Given the description of an element on the screen output the (x, y) to click on. 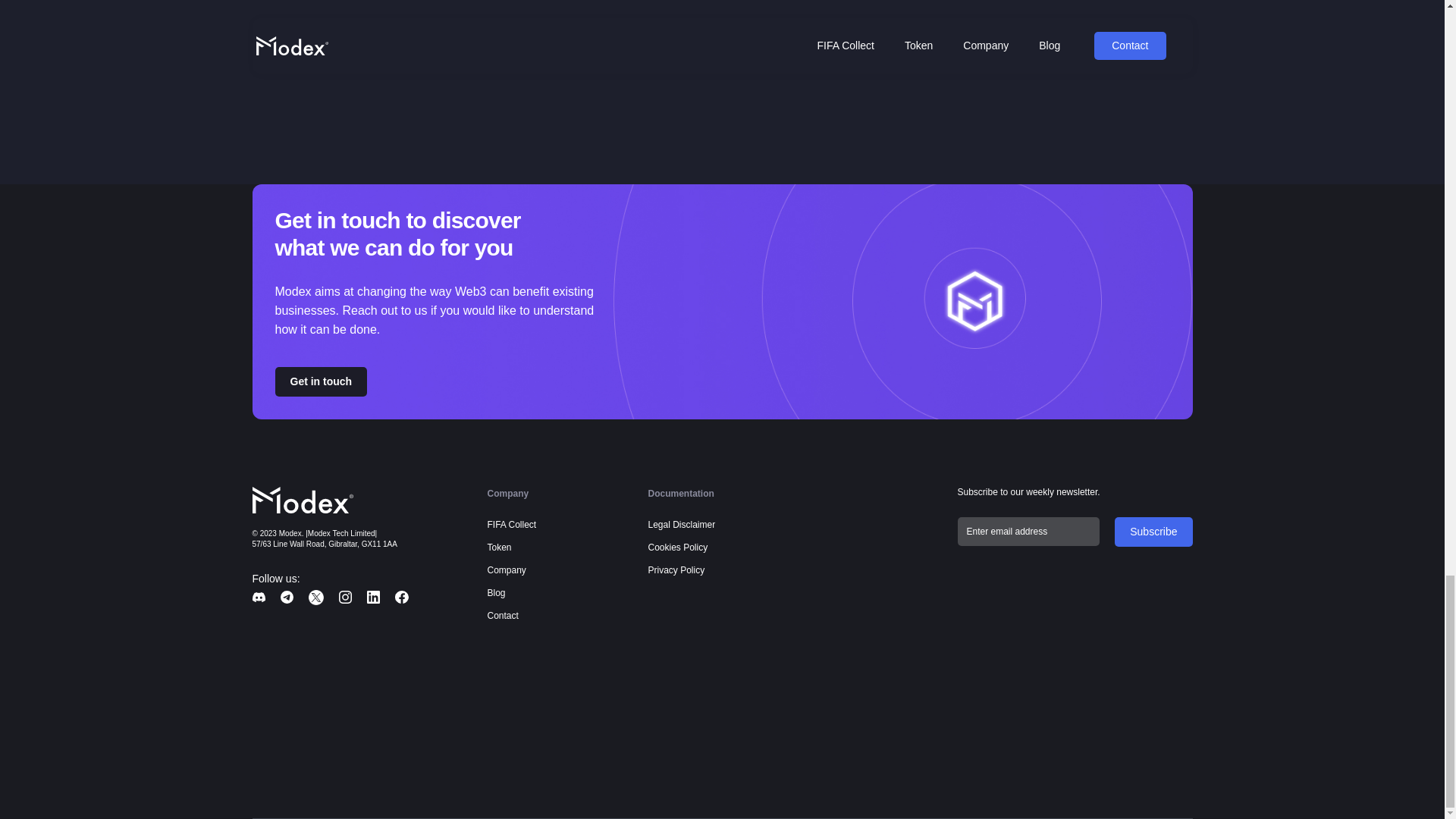
Get in touch (320, 381)
Contact (502, 616)
Legal Disclaimer (680, 524)
Token (498, 547)
Subscribe (1153, 531)
Blog (495, 593)
FIFA Collect (510, 524)
Privacy Policy (675, 570)
Cookies Policy (677, 547)
Subscribe (1153, 531)
Company (505, 570)
